Given the description of an element on the screen output the (x, y) to click on. 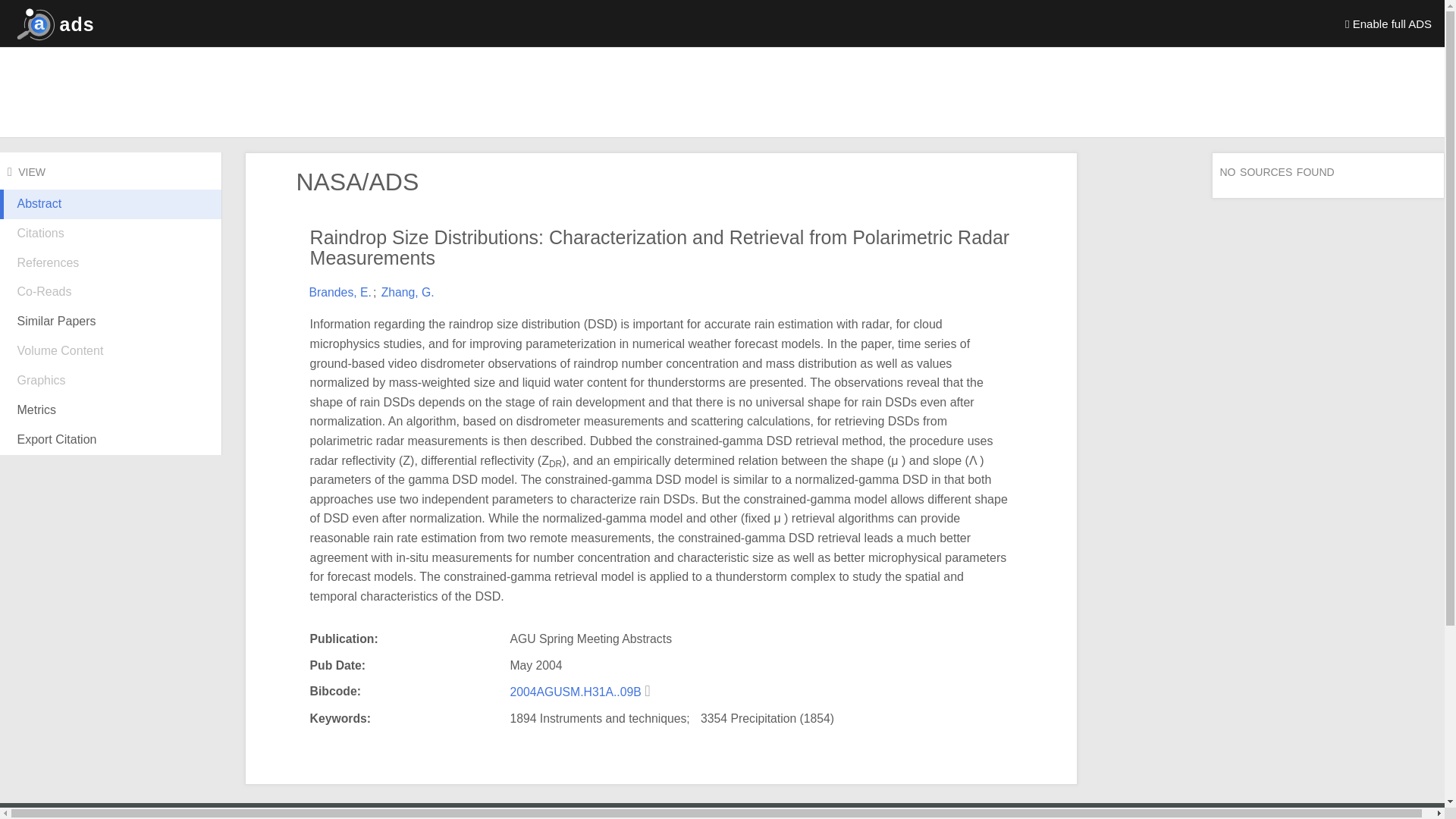
Zhang, G. (407, 291)
Similar Papers (110, 321)
Enable full ADS (1388, 23)
Export Citation (110, 440)
ads (51, 22)
Metrics (110, 410)
Abstract (110, 215)
2004AGUSM.H31A..09B (577, 691)
Brandes, E. (339, 291)
